Given the description of an element on the screen output the (x, y) to click on. 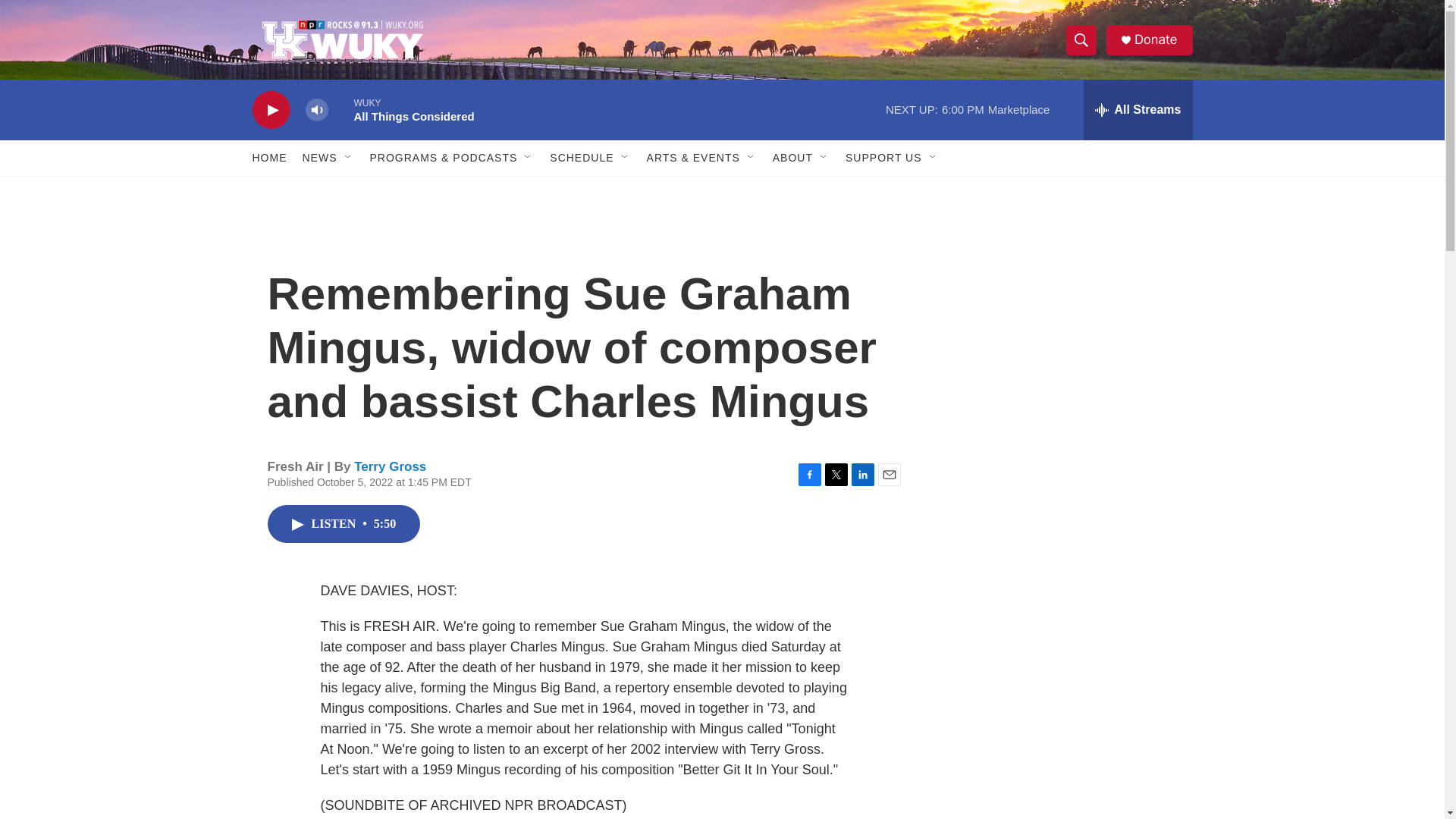
3rd party ad content (1070, 403)
